Given the description of an element on the screen output the (x, y) to click on. 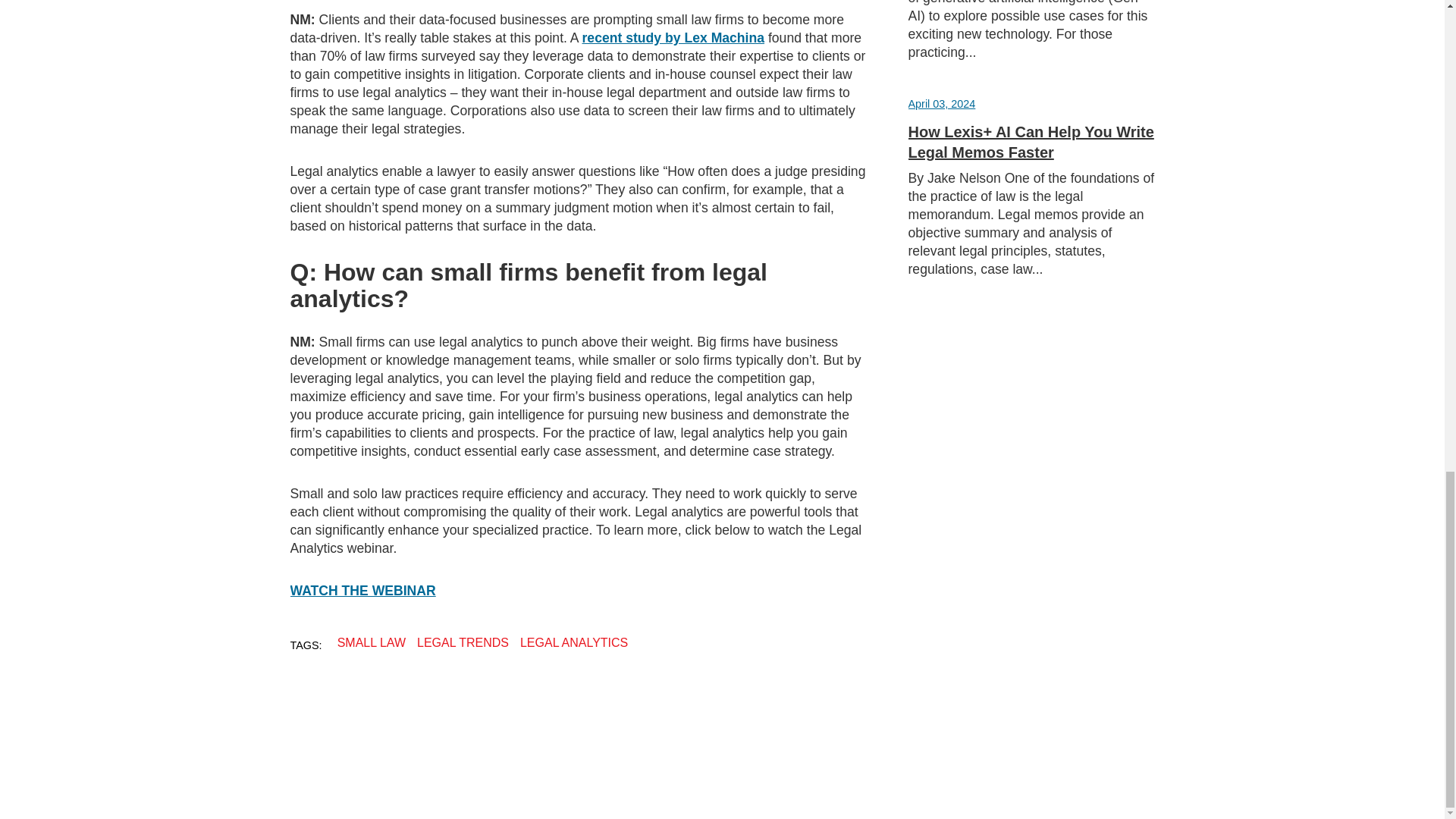
LEGAL ANALYTICS (573, 642)
SMALL LAW (371, 642)
LEGAL TRENDS (462, 642)
recent study by Lex Machina (673, 37)
April 03, 2024 (941, 103)
WATCH THE WEBINAR (362, 590)
